Given the description of an element on the screen output the (x, y) to click on. 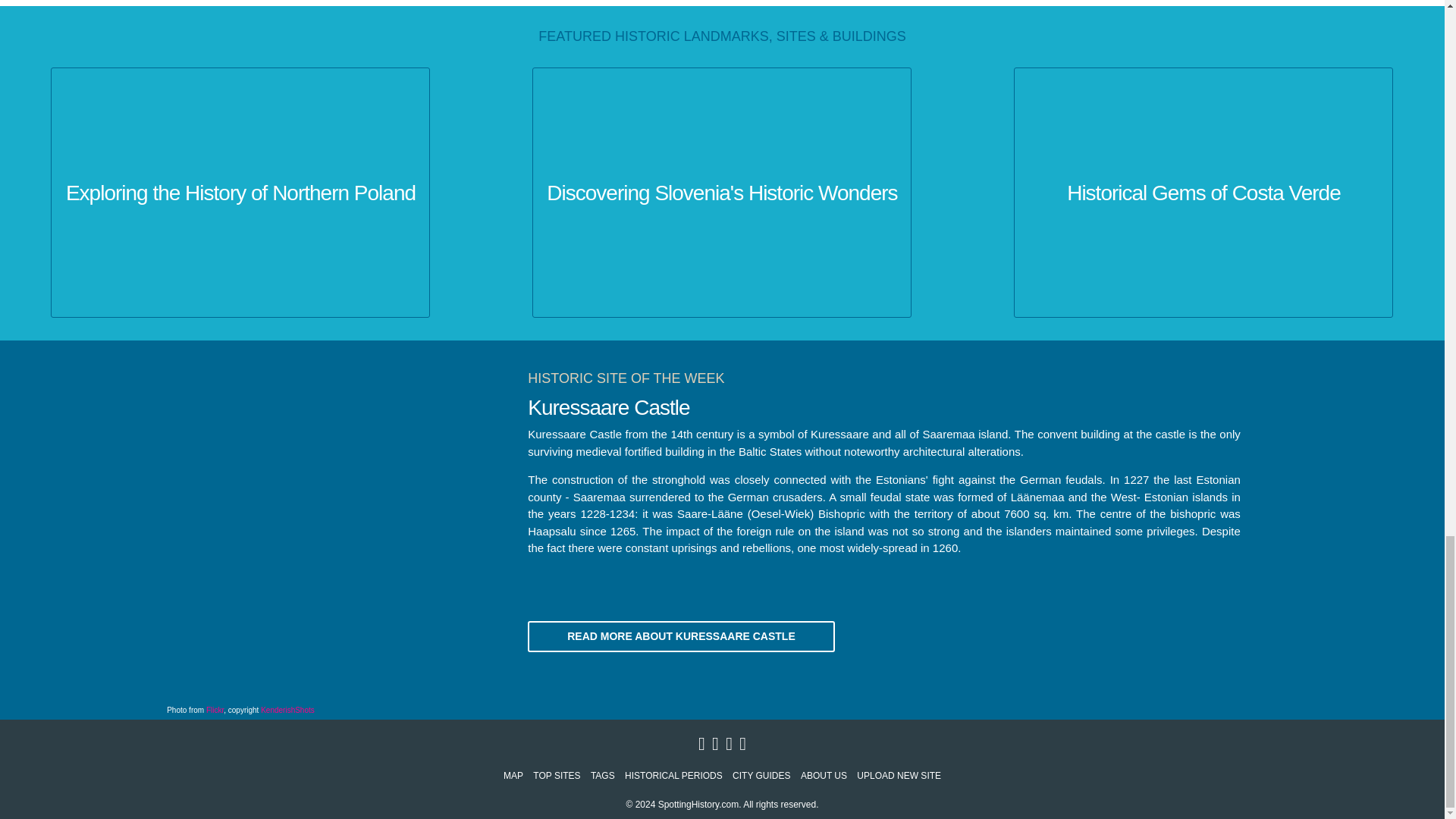
Flickr (215, 709)
Exploring the History of Northern Poland (239, 192)
READ MORE ABOUT KURESSAARE CASTLE (680, 635)
Historical Gems of Costa Verde (1203, 192)
KenderishShots (287, 709)
Discovering Slovenia's Historic Wonders (721, 192)
HISTORICAL PERIODS (673, 775)
TOP SITES (555, 775)
TAGS (602, 775)
READ MORE ABOUT KURESSAARE CASTLE (680, 635)
